Given the description of an element on the screen output the (x, y) to click on. 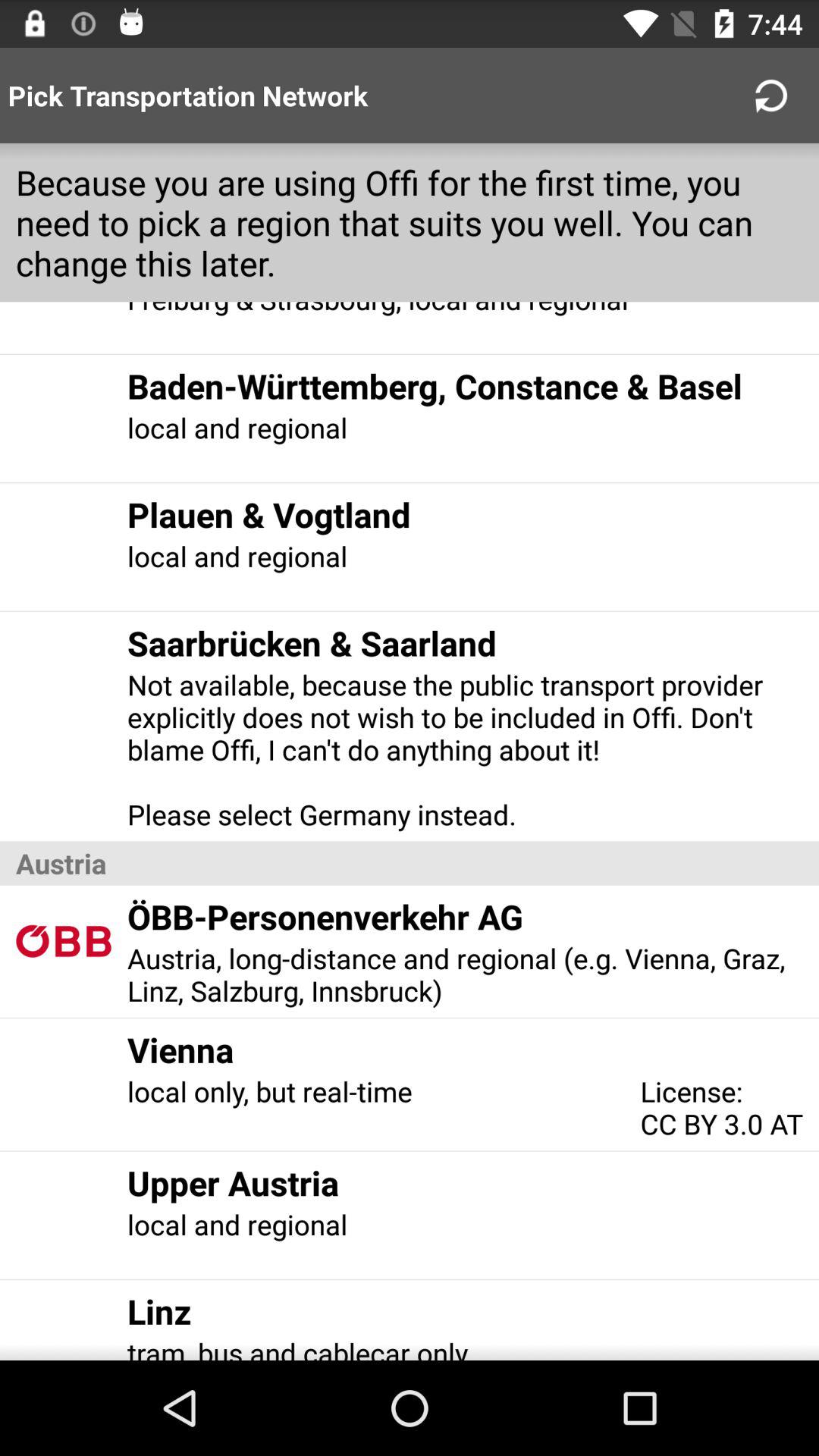
click on the refresh button (771, 95)
